Given the description of an element on the screen output the (x, y) to click on. 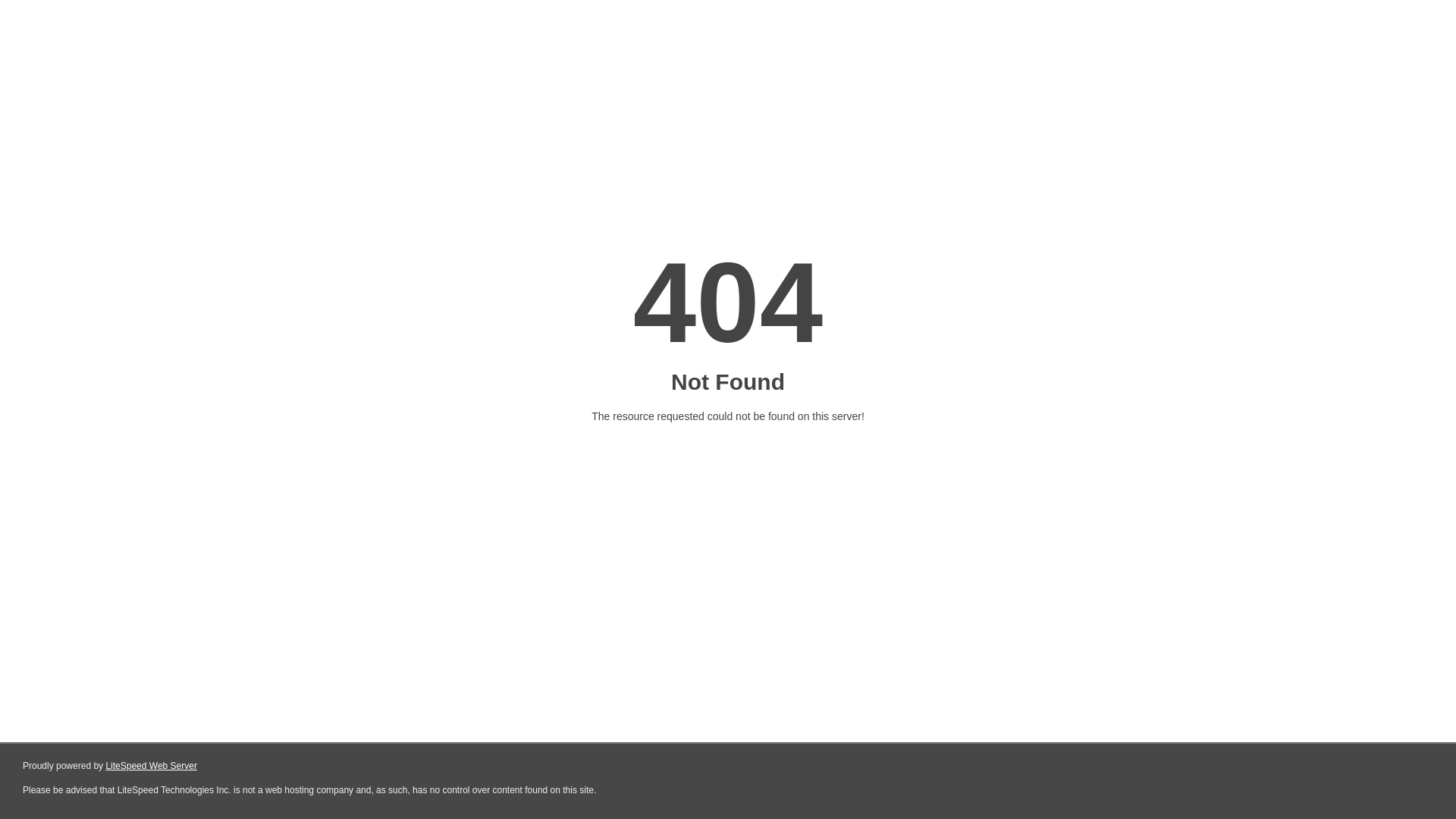
LiteSpeed Web Server Element type: text (151, 765)
